Given the description of an element on the screen output the (x, y) to click on. 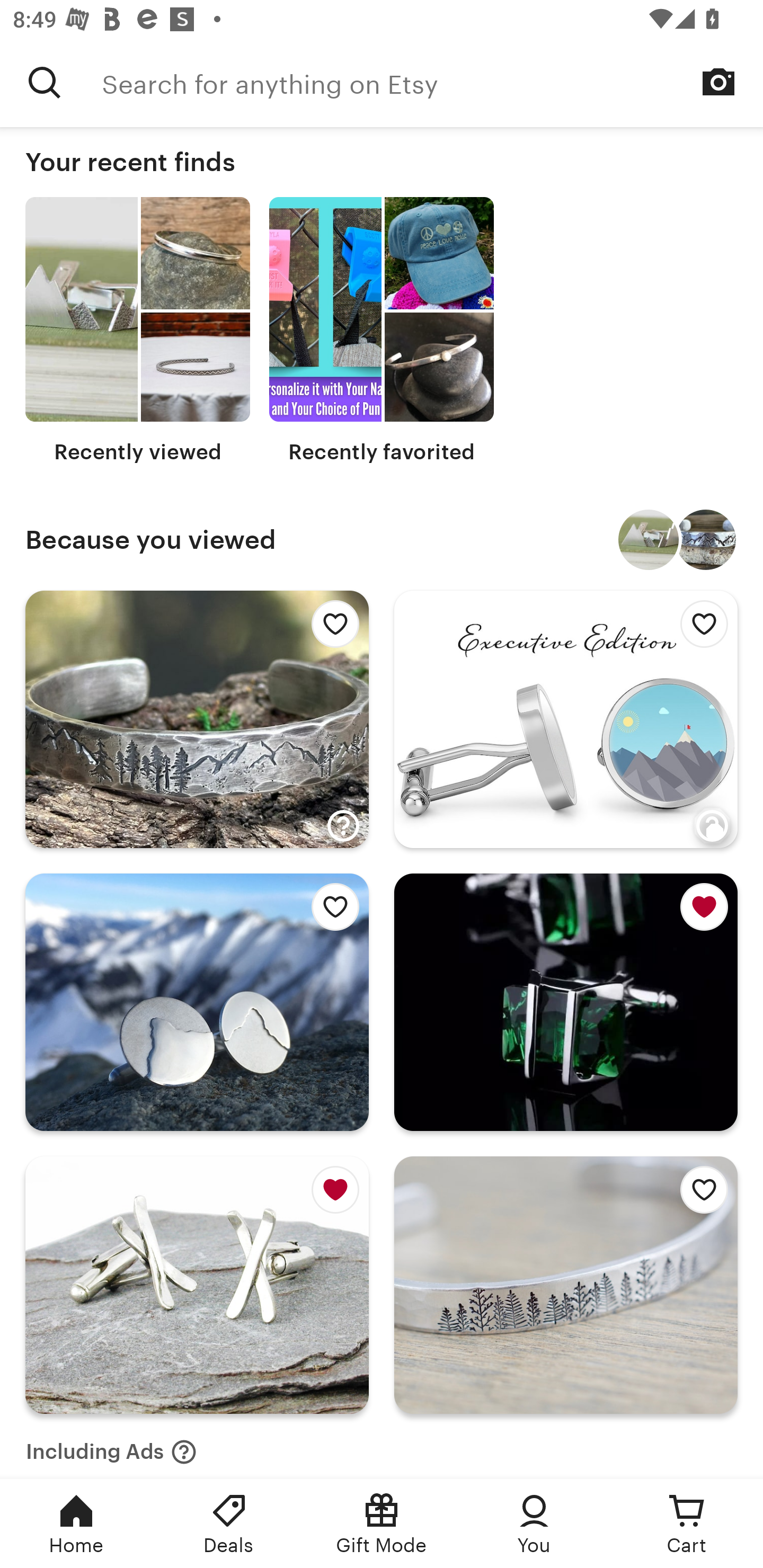
Search for anything on Etsy (44, 82)
Search by image (718, 81)
Search for anything on Etsy (432, 82)
Recently viewed (137, 330)
Recently favorited (381, 330)
Including Ads (111, 1446)
Deals (228, 1523)
Gift Mode (381, 1523)
You (533, 1523)
Cart (686, 1523)
